Given the description of an element on the screen output the (x, y) to click on. 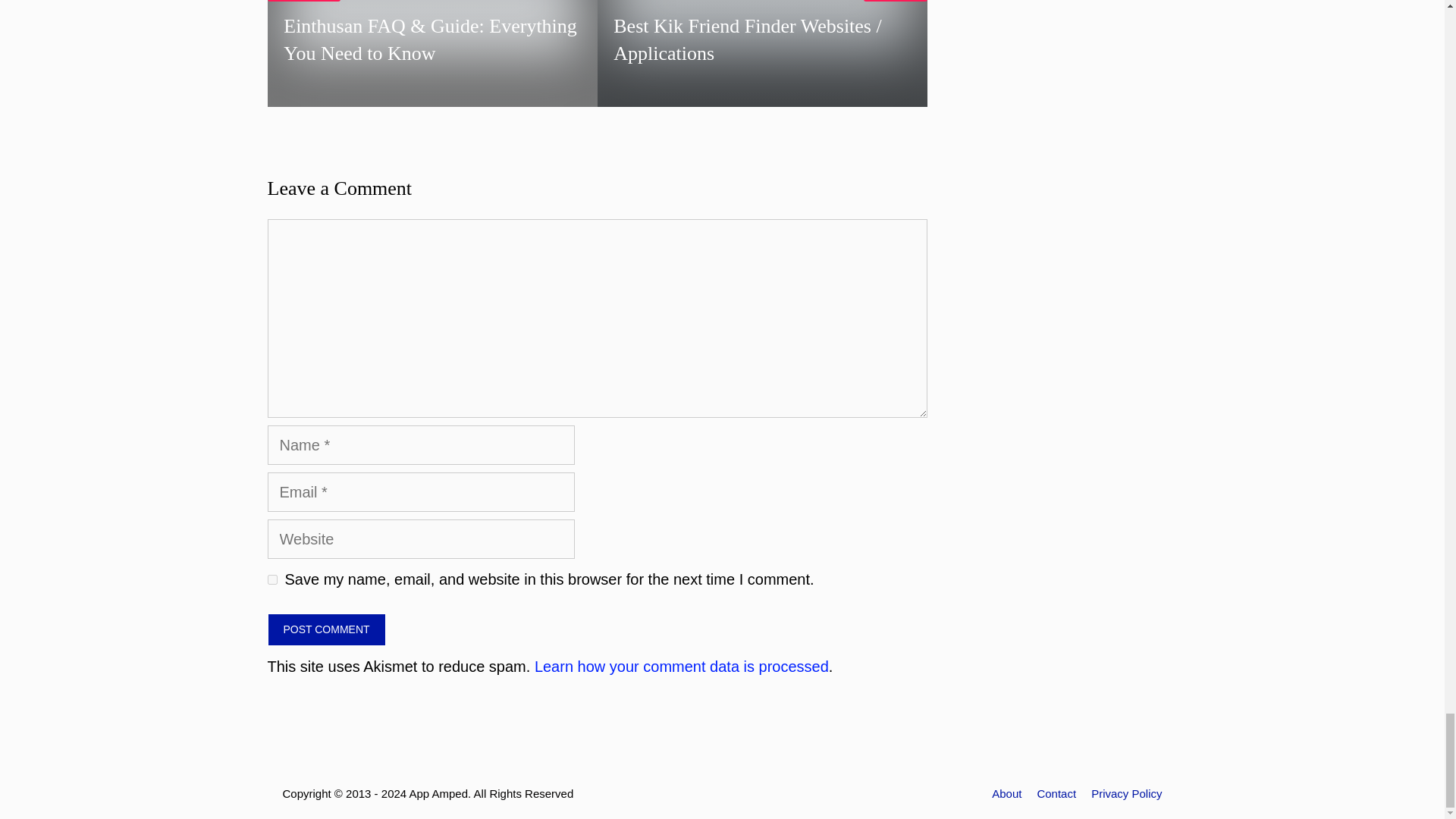
About (1006, 793)
Learn how your comment data is processed (681, 666)
yes (271, 579)
Post Comment (325, 629)
Post Comment (325, 629)
Contact (1055, 793)
